Given the description of an element on the screen output the (x, y) to click on. 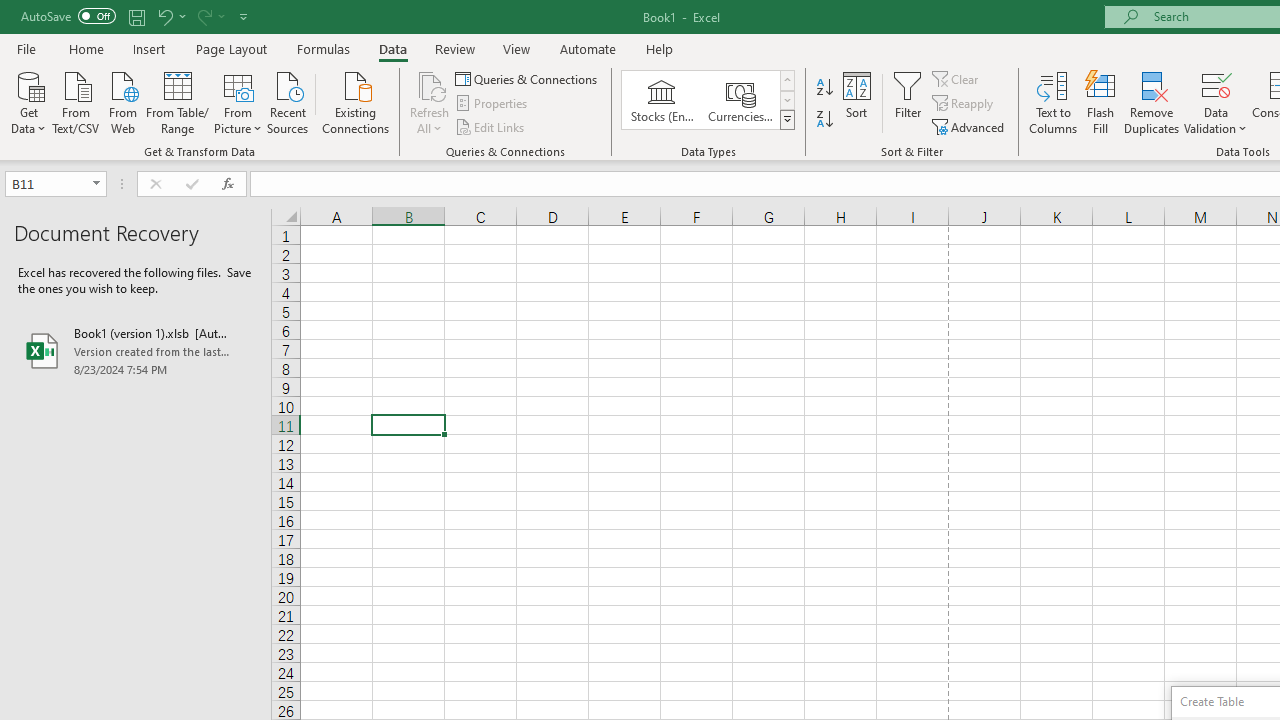
AutomationID: ConvertToLinkedEntity (708, 99)
Edit Links (491, 126)
Stocks (English) (662, 100)
Remove Duplicates (1151, 102)
Sort A to Z (824, 87)
Get Data (28, 101)
